Given the description of an element on the screen output the (x, y) to click on. 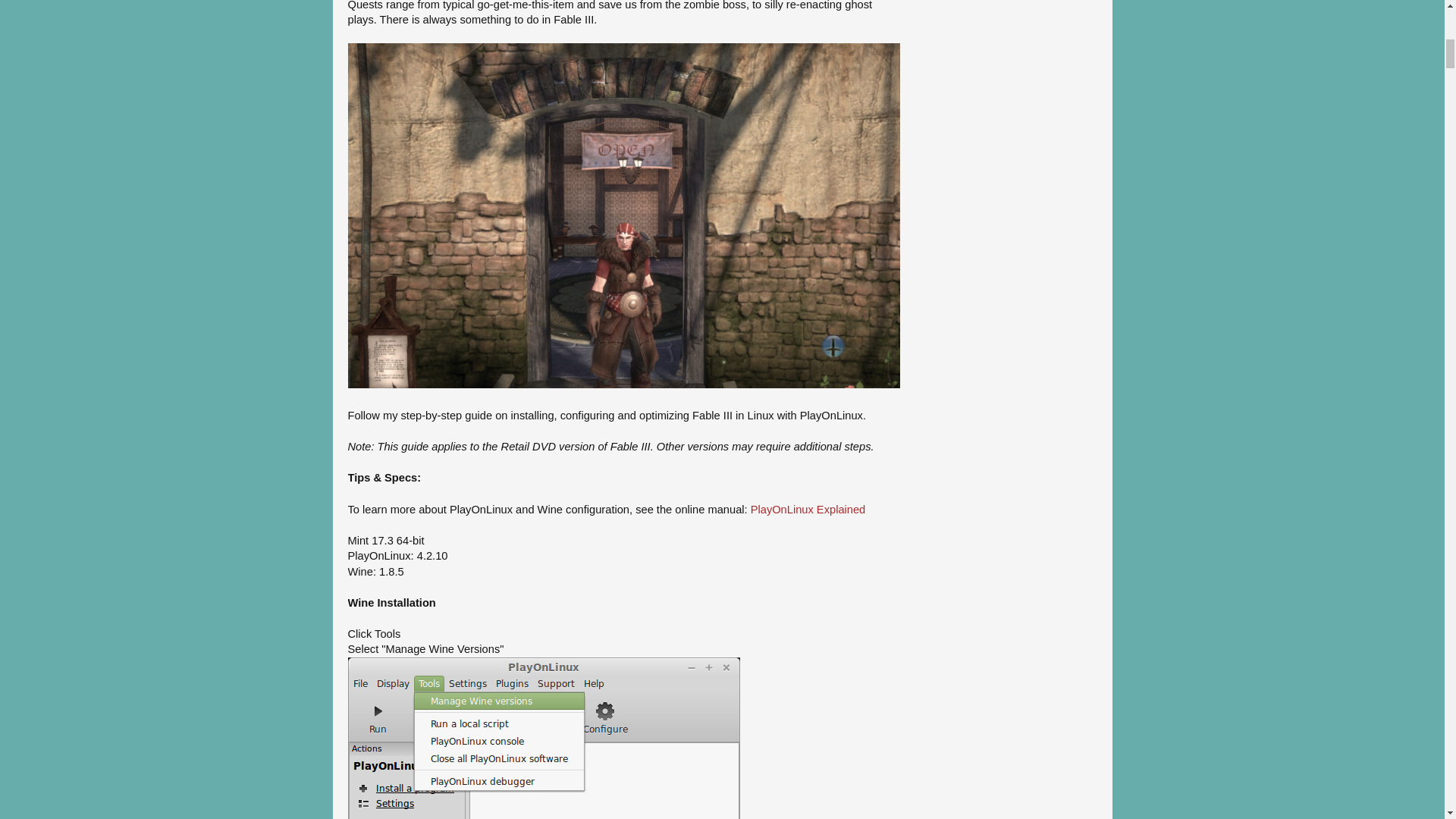
PlayOnLinux Explained (807, 509)
